Given the description of an element on the screen output the (x, y) to click on. 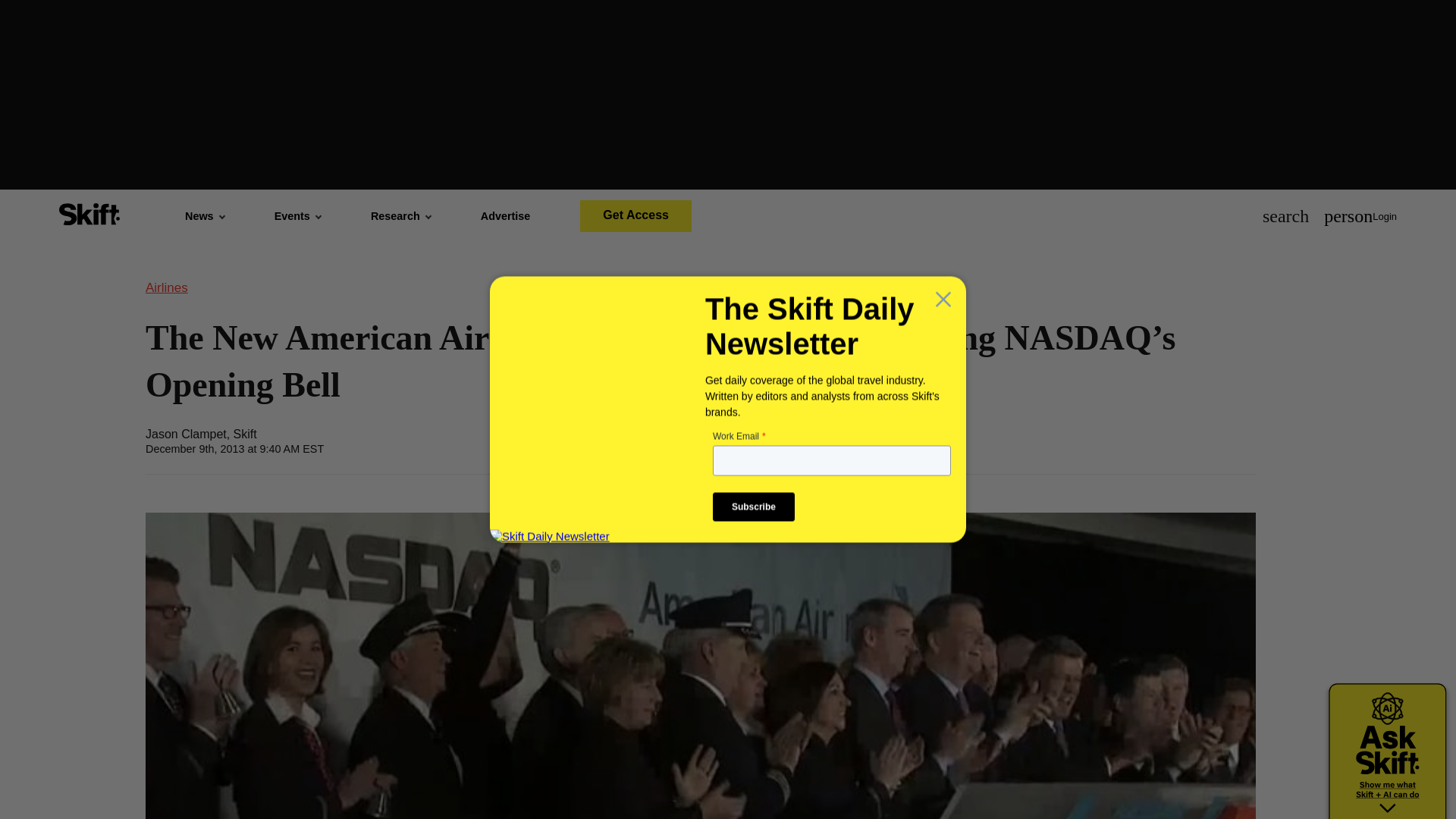
Research (400, 215)
Popup CTA (727, 409)
